Given the description of an element on the screen output the (x, y) to click on. 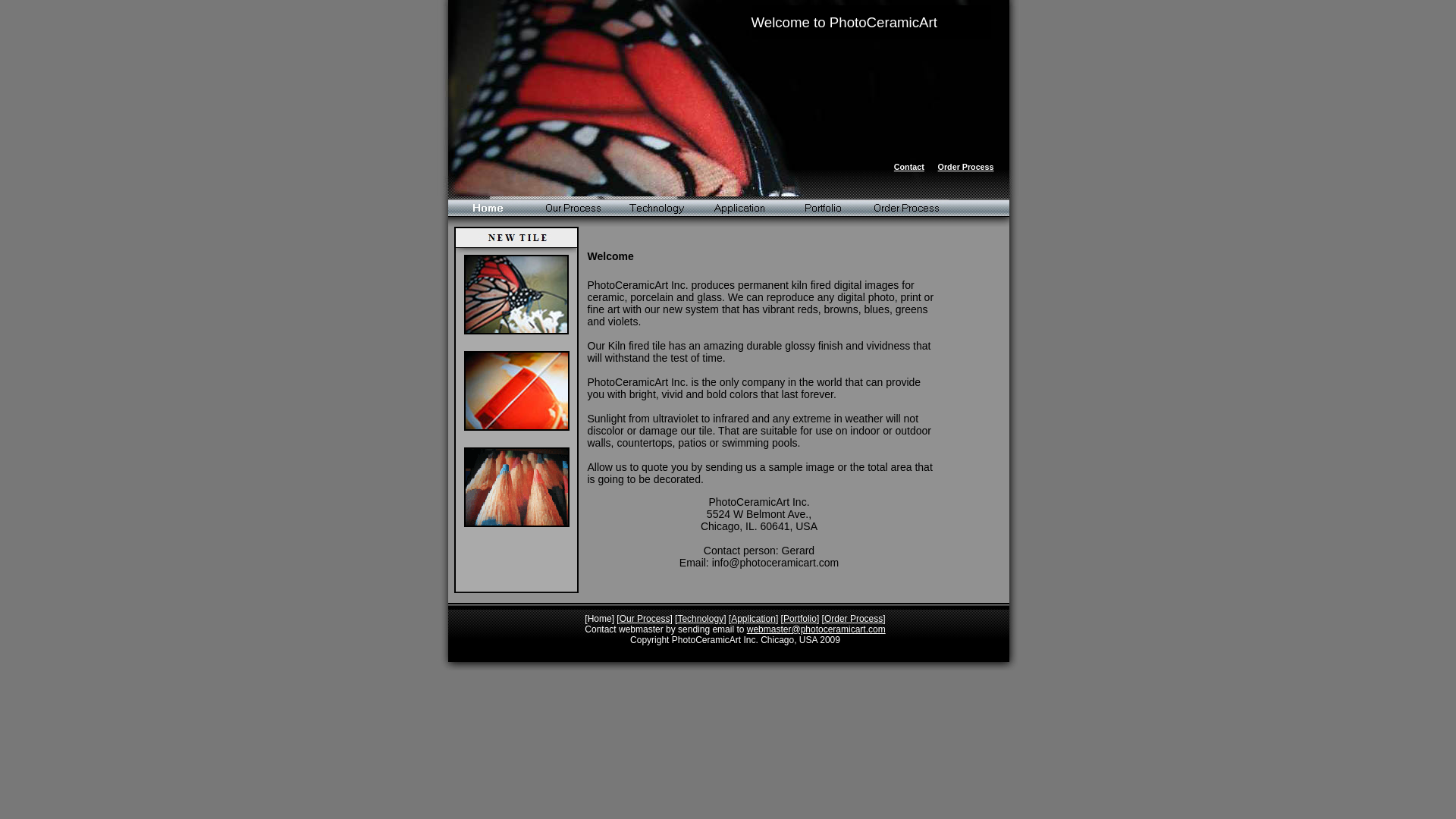
Order Process (905, 207)
Technology (655, 207)
Order Process (853, 618)
Contact (908, 166)
Application (738, 207)
Technology (700, 618)
Portfolio (822, 207)
Our Process (644, 618)
Order Process (965, 166)
Portfolio (799, 618)
